Given the description of an element on the screen output the (x, y) to click on. 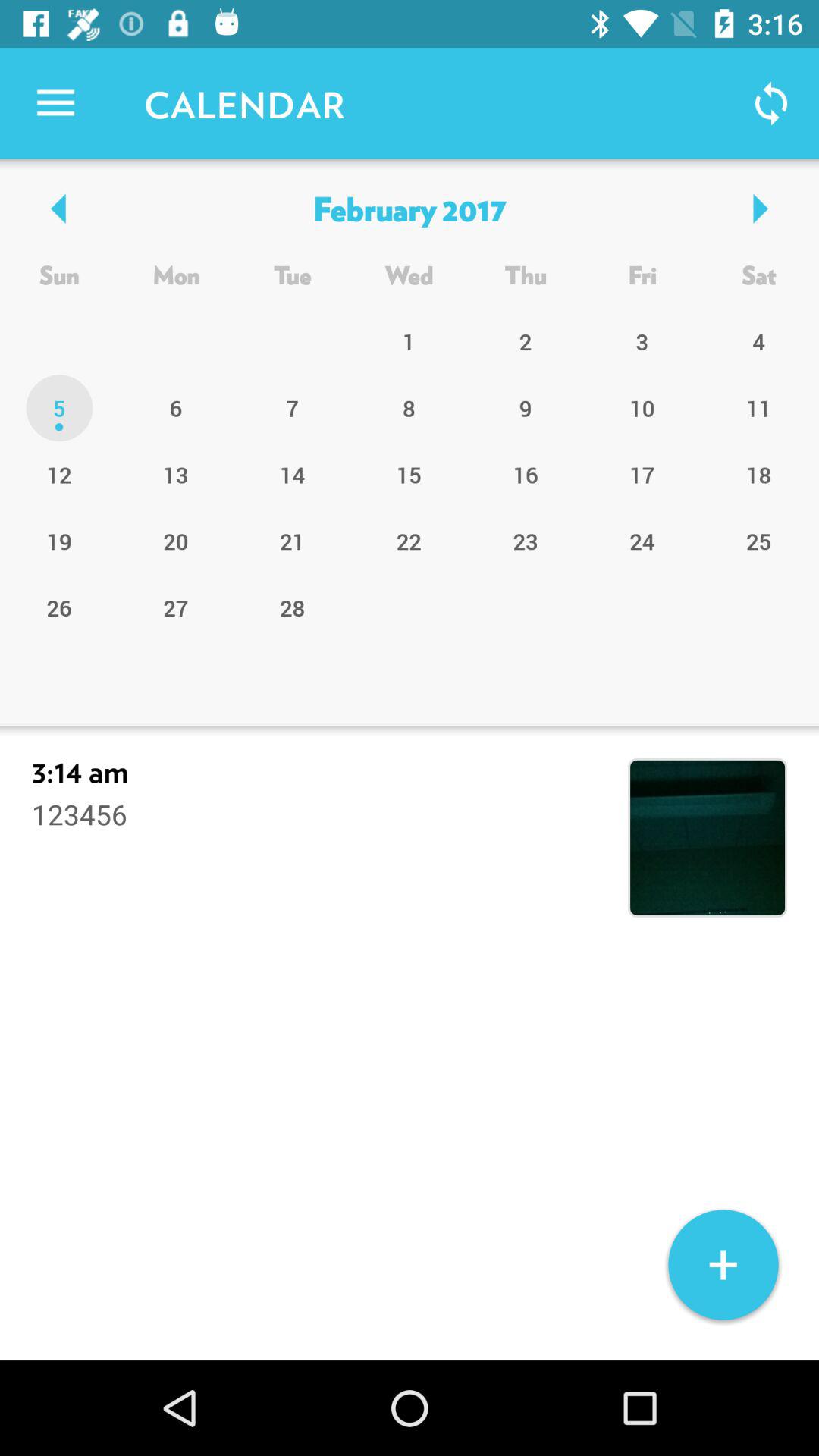
select the icon next to 1 (525, 407)
